Given the description of an element on the screen output the (x, y) to click on. 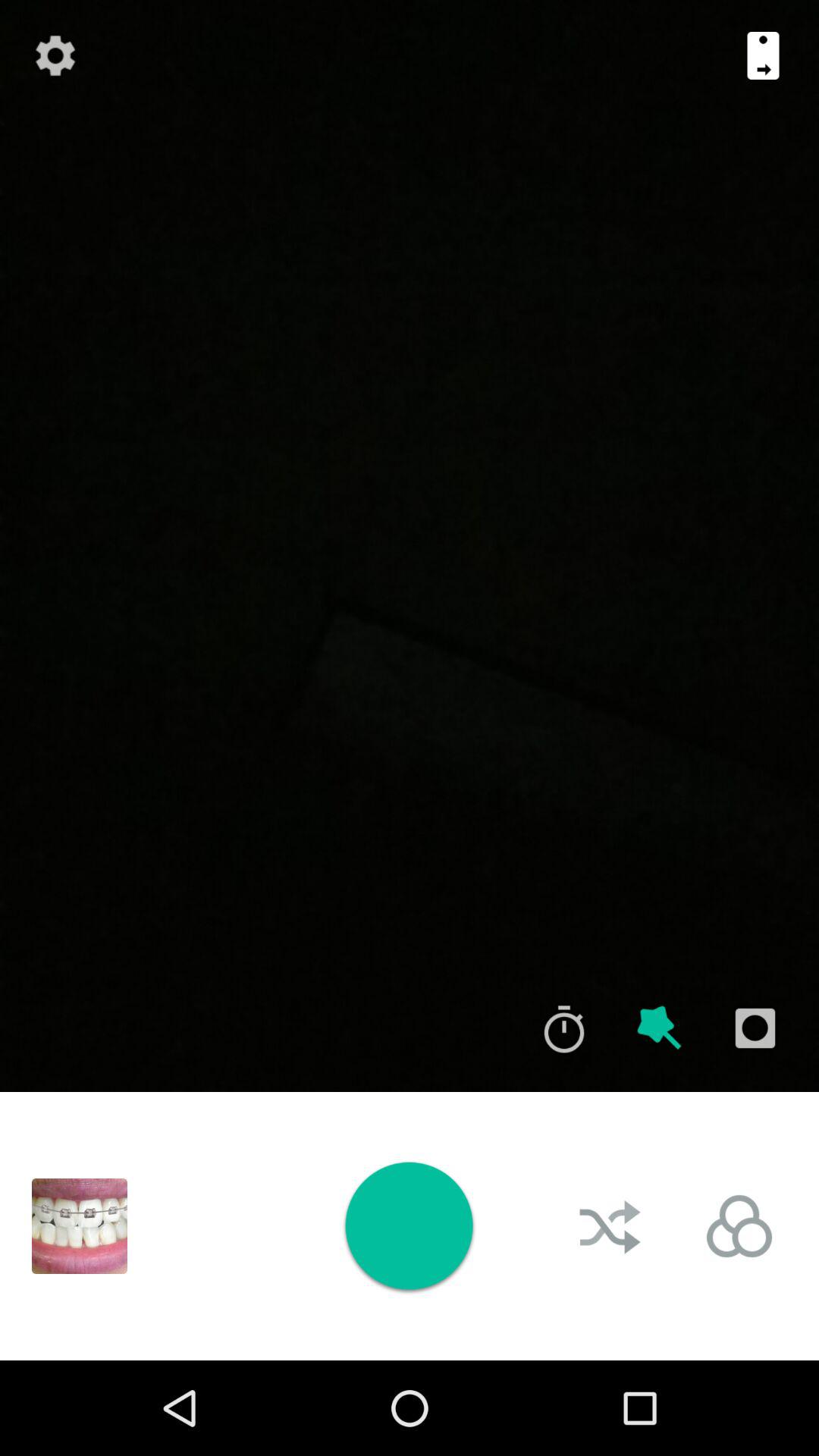
go to next step (763, 55)
